Given the description of an element on the screen output the (x, y) to click on. 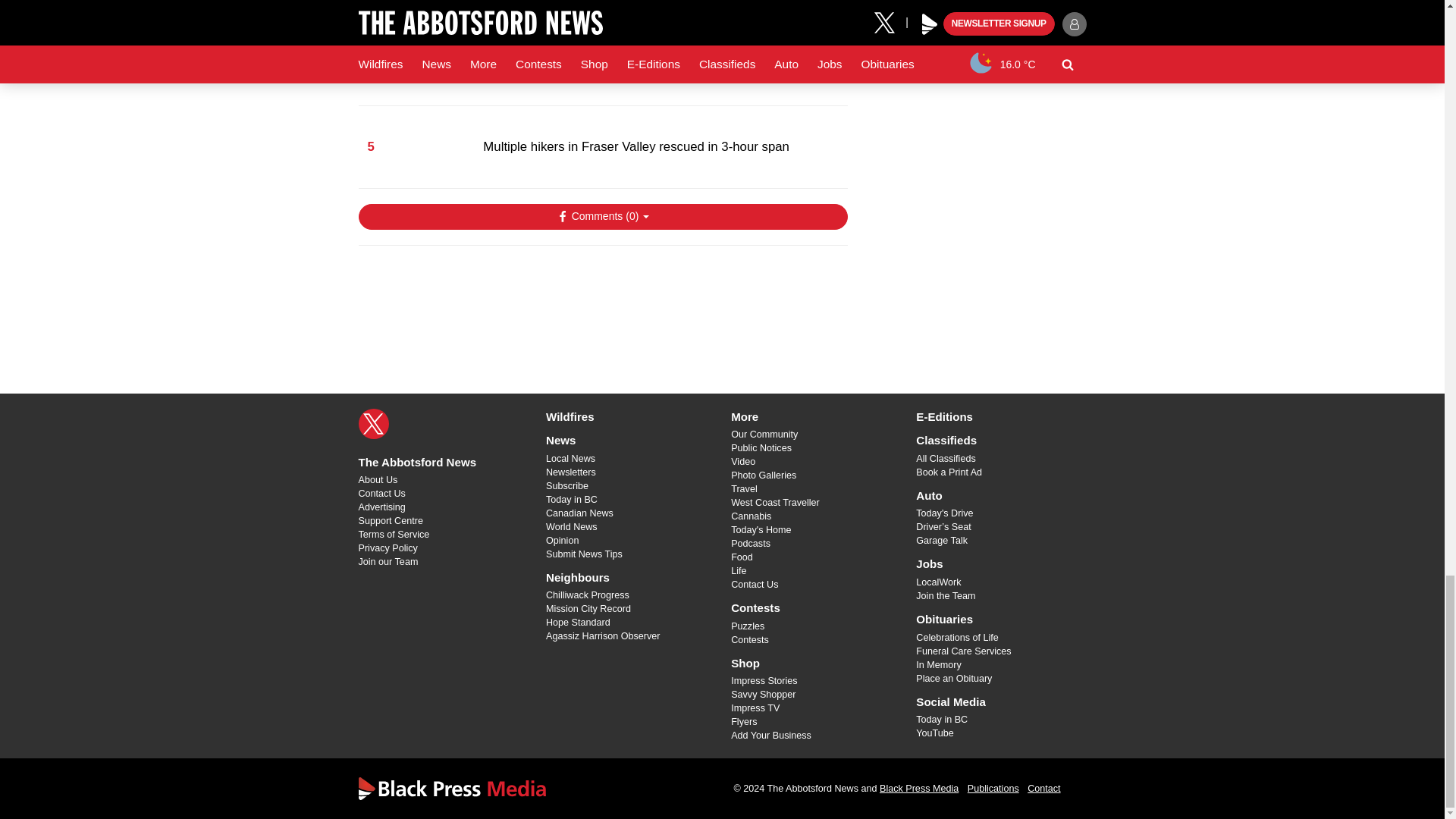
X (373, 423)
Show Comments (602, 216)
